Given the description of an element on the screen output the (x, y) to click on. 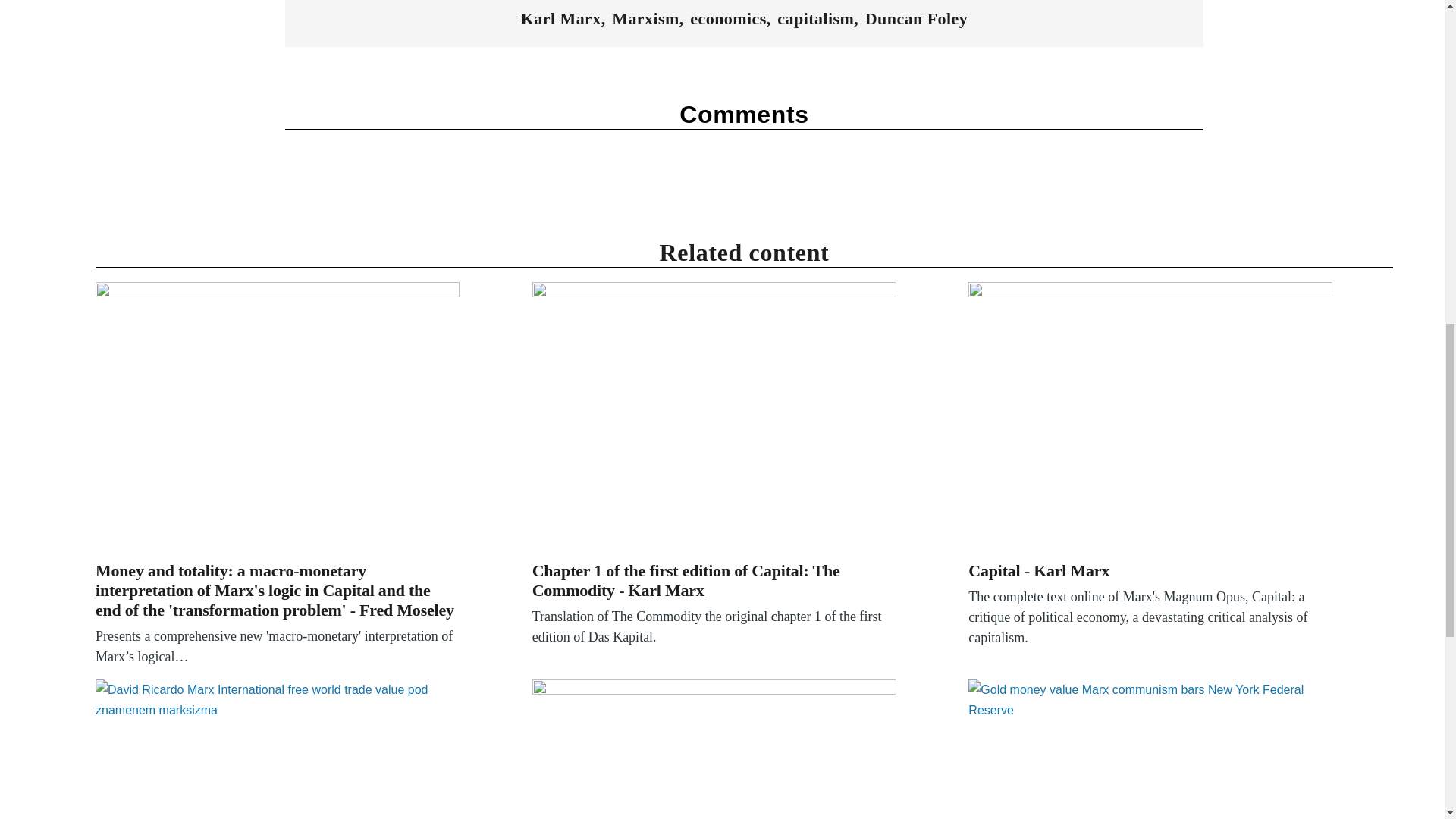
Karl Marx (561, 18)
David Ricardo by Thomas Phillips (278, 749)
economics (728, 18)
Duncan Foley (916, 18)
Marxism (645, 18)
capitalism (815, 18)
